Given the description of an element on the screen output the (x, y) to click on. 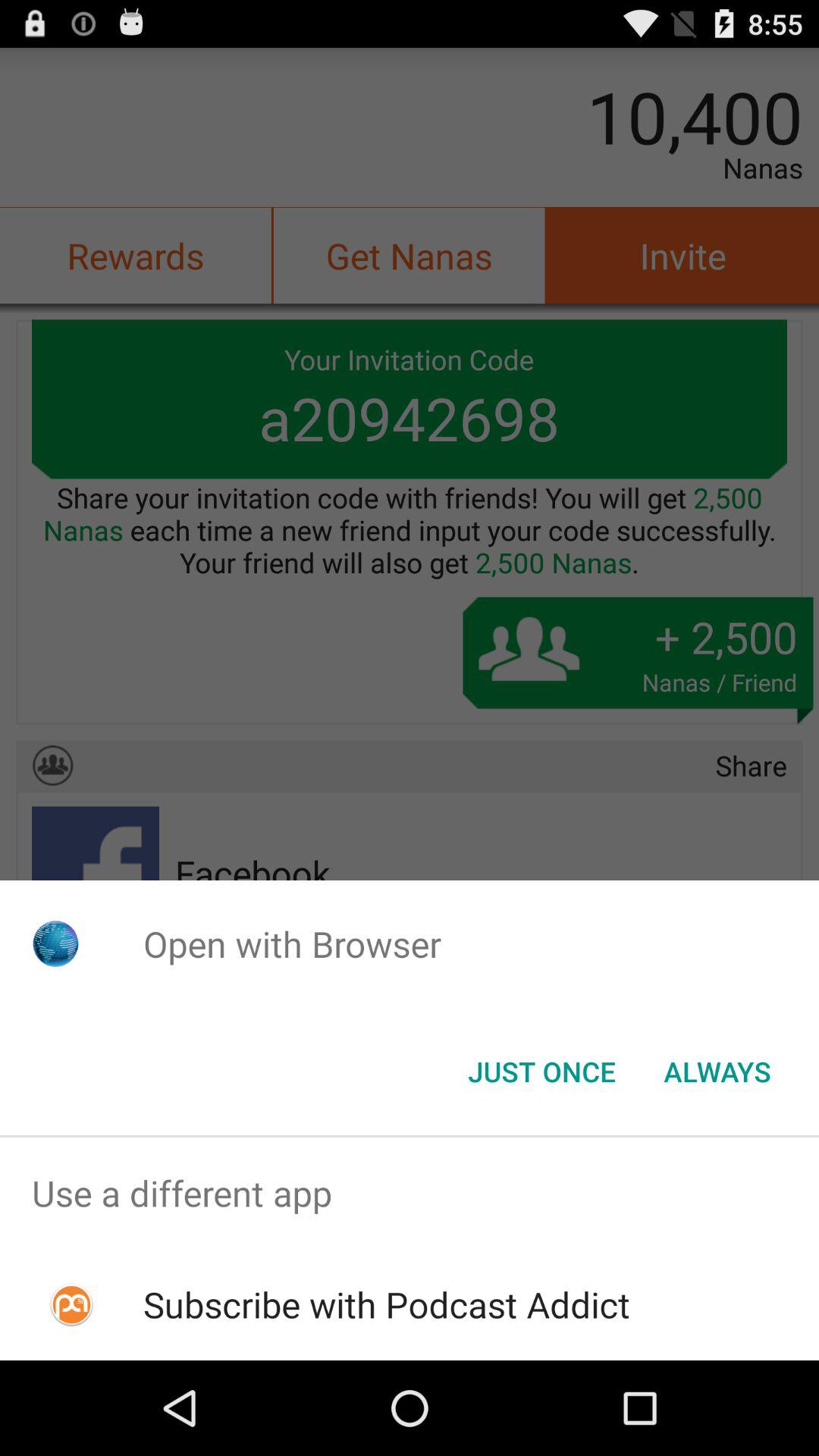
select button next to just once item (717, 1071)
